Given the description of an element on the screen output the (x, y) to click on. 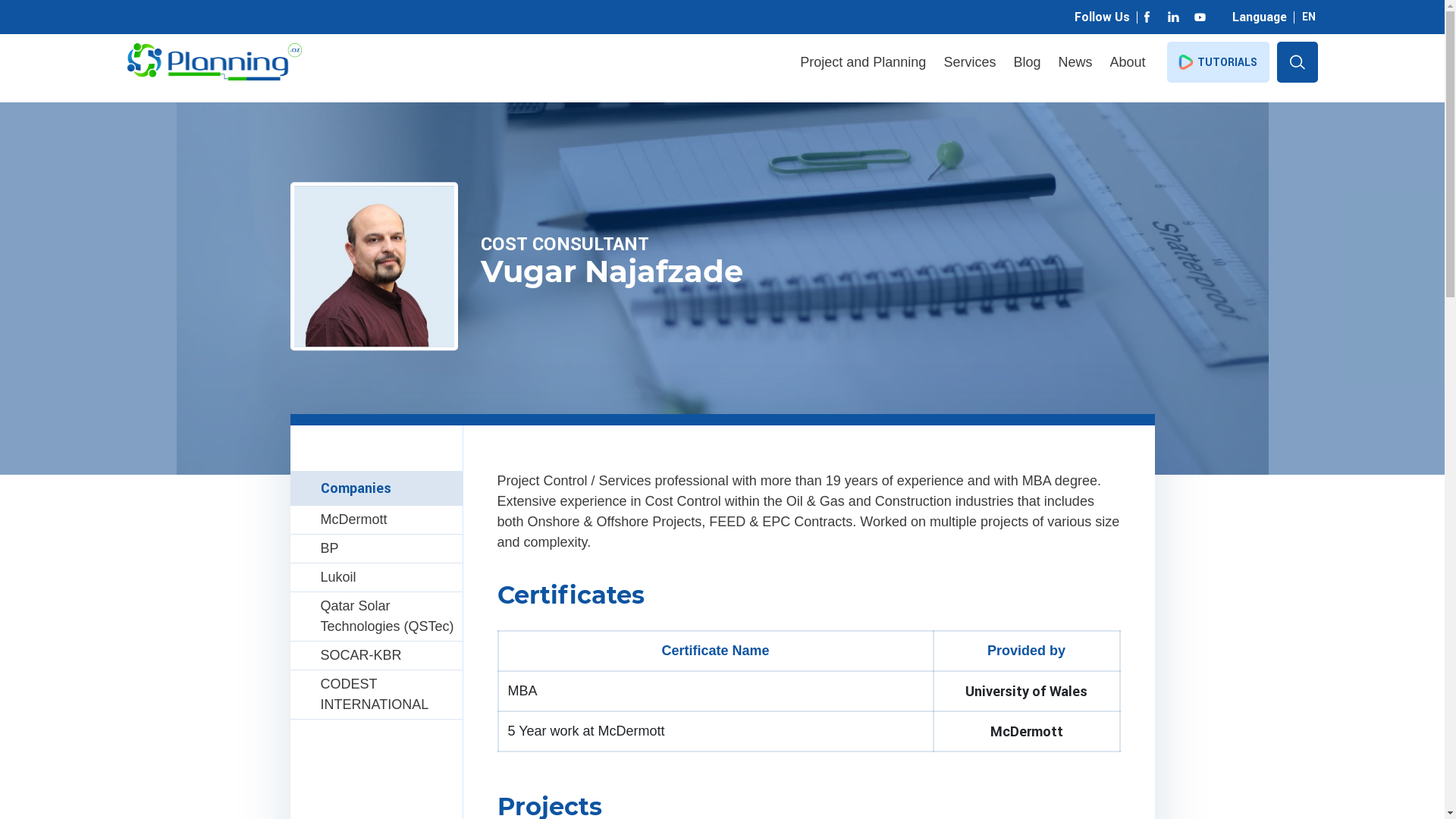
Blog Element type: text (1026, 62)
Services Element type: text (969, 62)
About Element type: text (1127, 62)
Project and Planning Element type: text (862, 62)
TUTORIALS Element type: text (1217, 61)
News Element type: text (1074, 62)
